Given the description of an element on the screen output the (x, y) to click on. 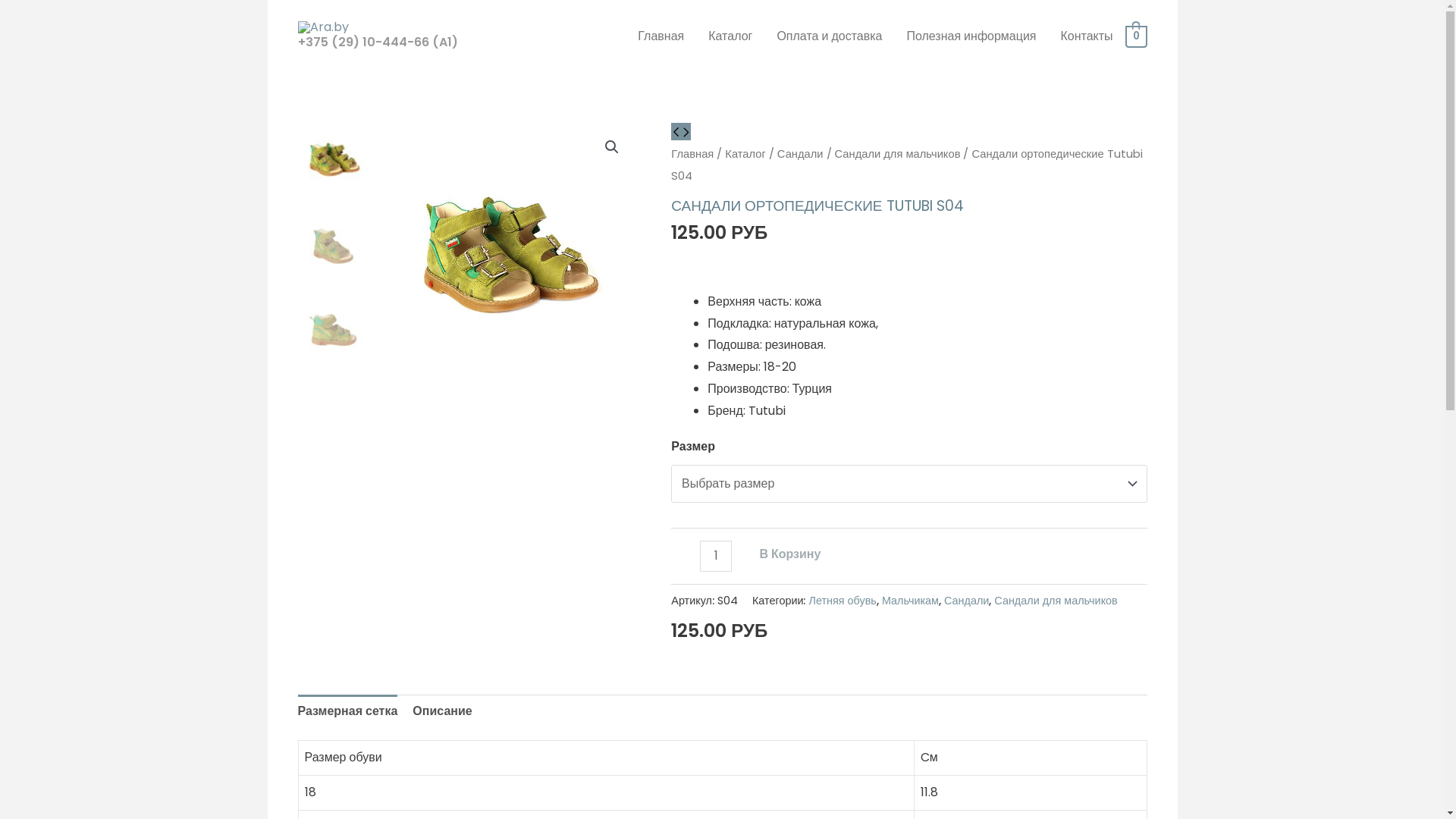
+375 (29) 10-444-66 (A1) Element type: text (377, 41)
0 Element type: text (1136, 35)
s04_2.jpg Element type: hover (509, 248)
